Given the description of an element on the screen output the (x, y) to click on. 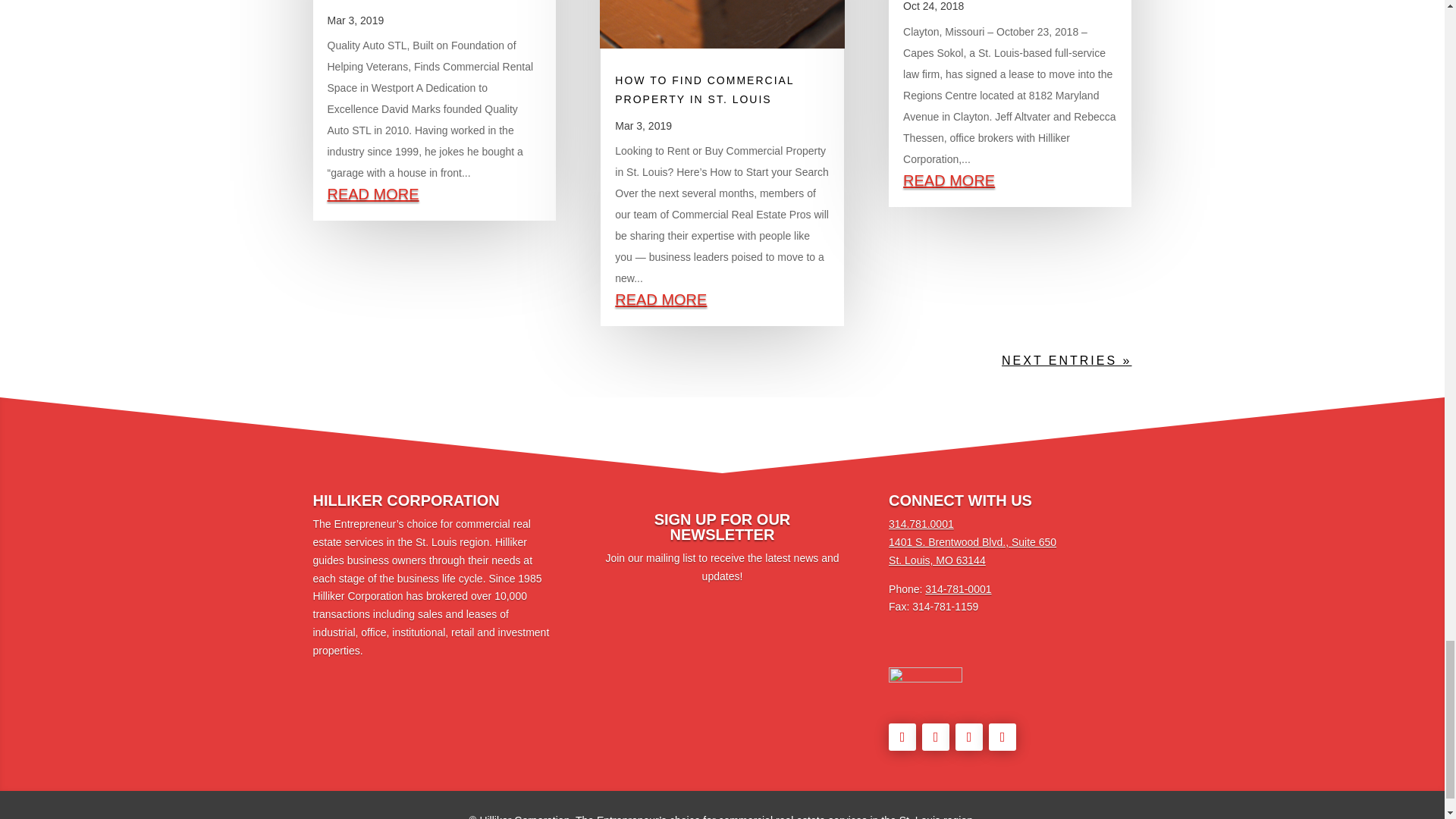
Follow on X (935, 737)
Follow on Youtube (1002, 737)
Follow on Facebook (901, 737)
Follow on LinkedIn (968, 737)
